Given the description of an element on the screen output the (x, y) to click on. 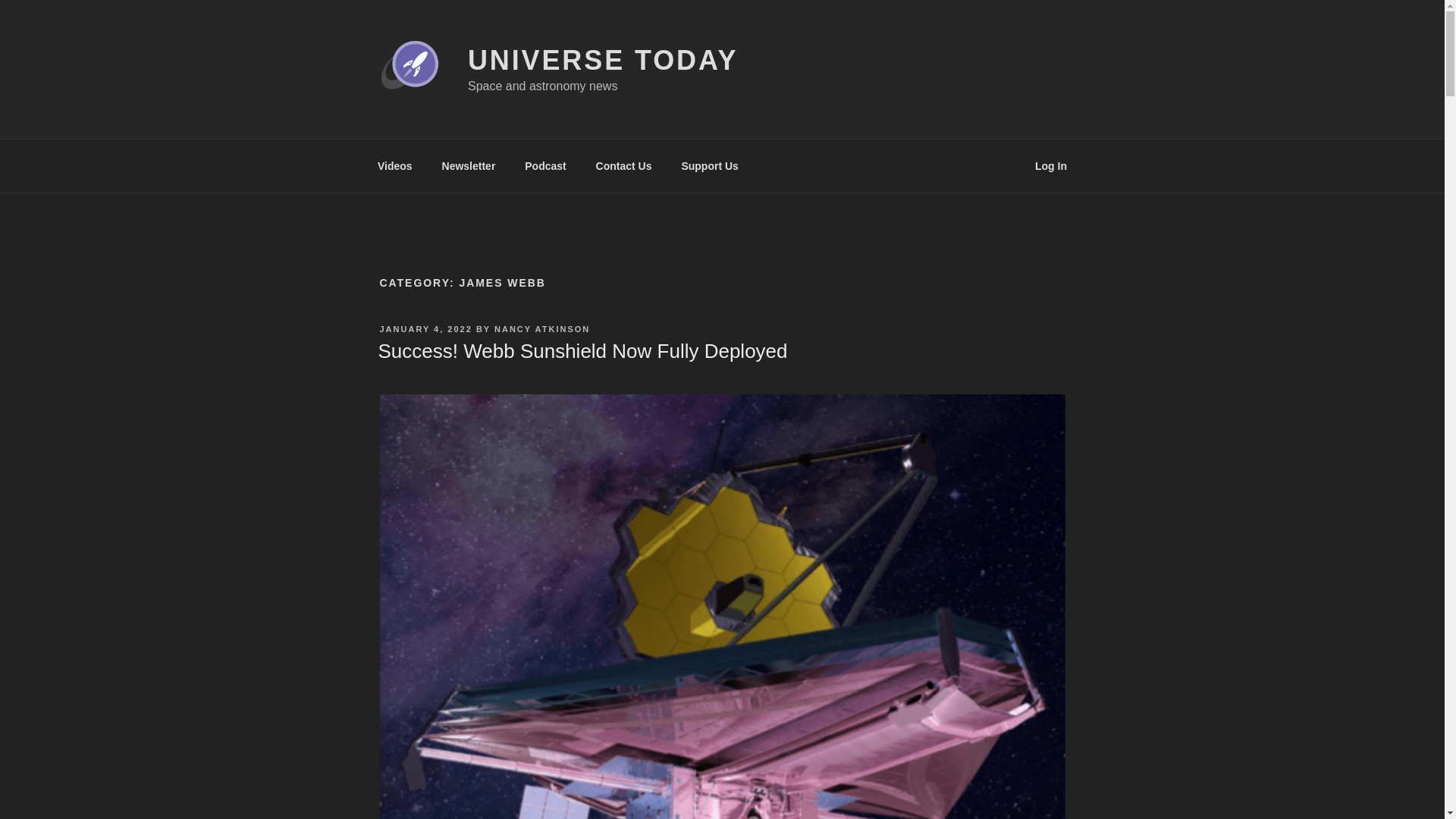
UNIVERSE TODAY (602, 60)
Newsletter (468, 165)
Log In (1051, 165)
JANUARY 4, 2022 (424, 328)
Contact Us (623, 165)
NANCY ATKINSON (542, 328)
Success! Webb Sunshield Now Fully Deployed (582, 350)
Podcast (545, 165)
Videos (394, 165)
Support Us (709, 165)
